Given the description of an element on the screen output the (x, y) to click on. 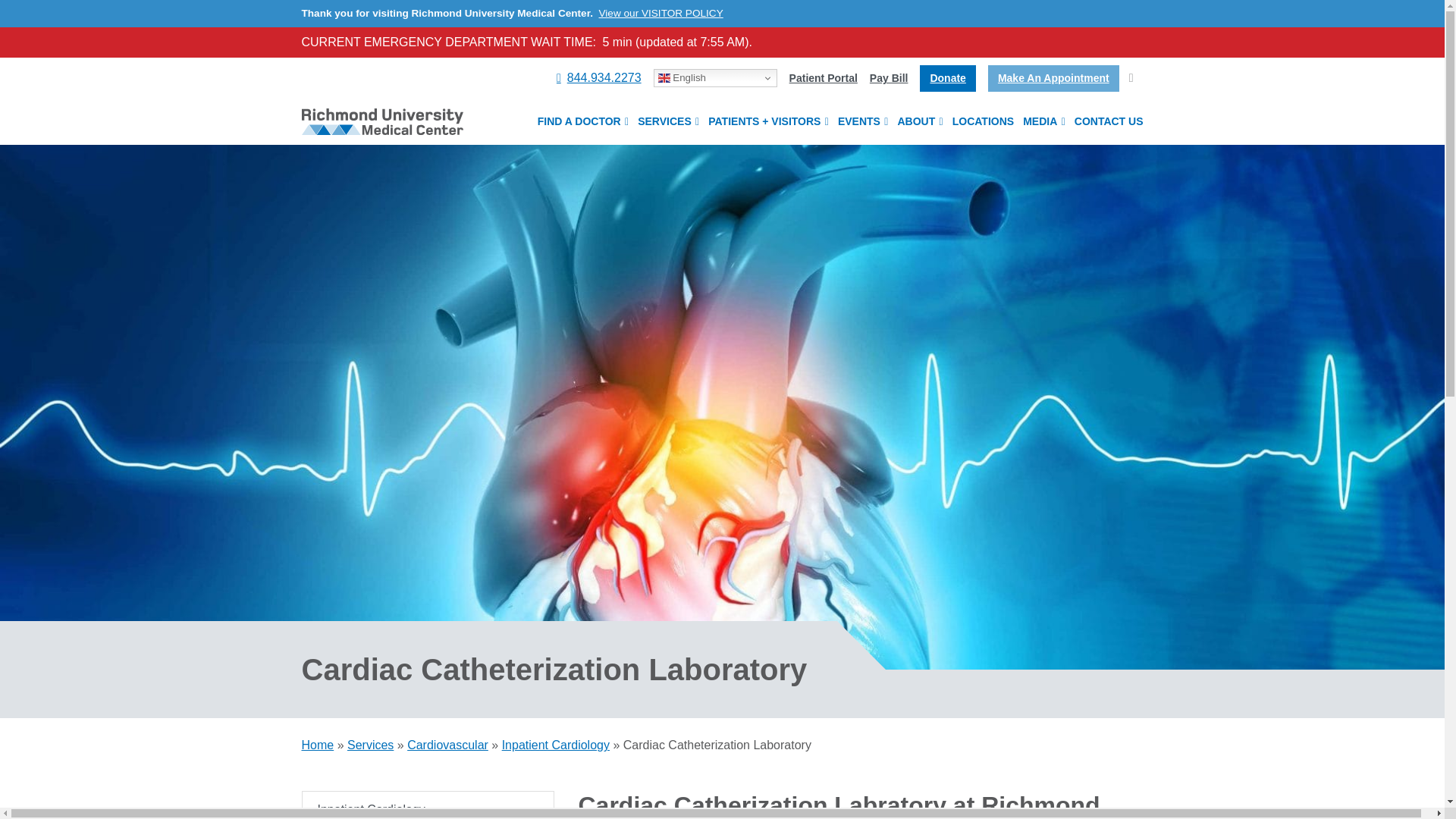
View our VISITOR POLICY (660, 12)
844.934.2273 (599, 77)
